Given the description of an element on the screen output the (x, y) to click on. 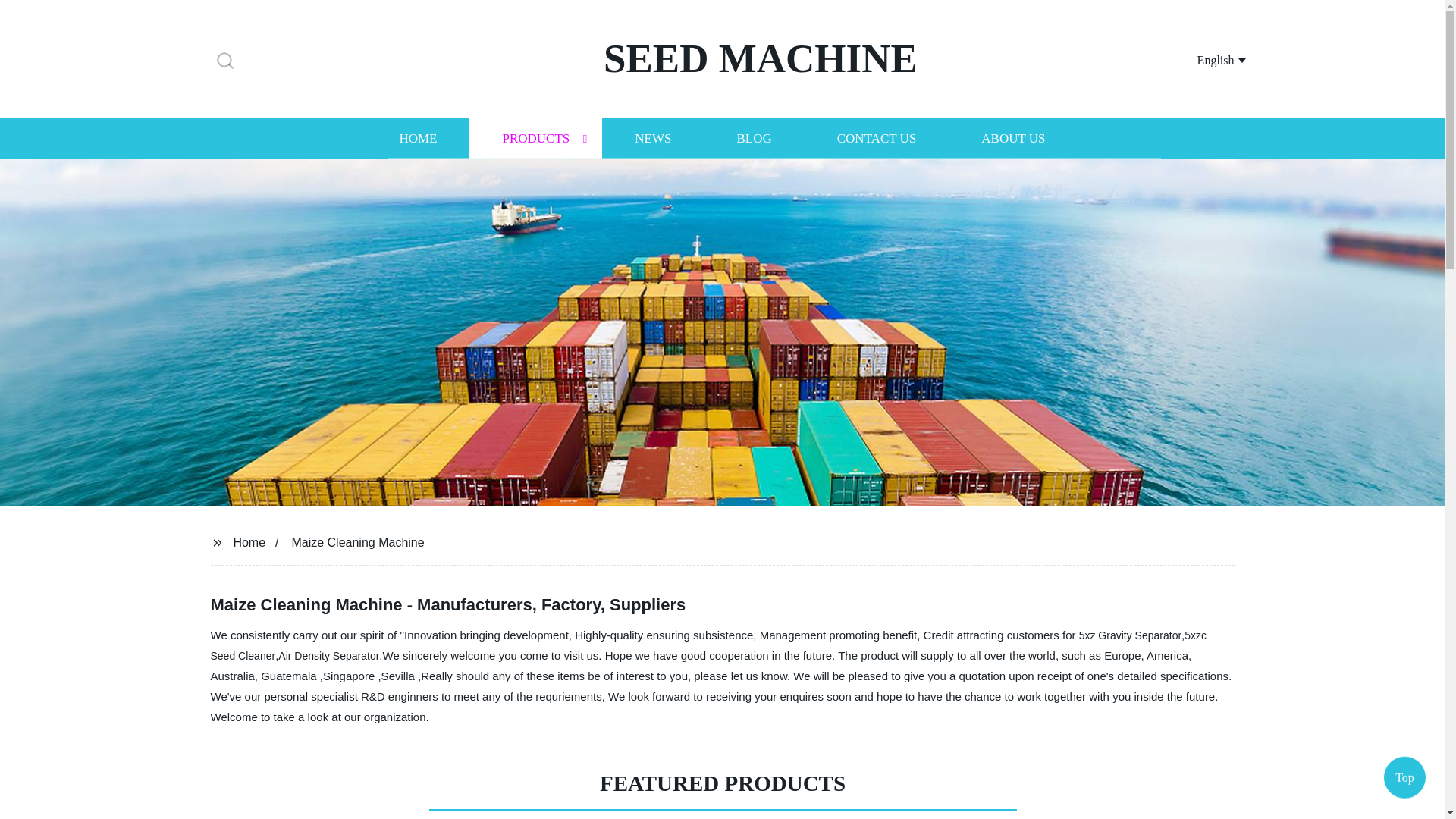
English (1203, 59)
Air Density Separator (328, 654)
5xz Gravity Separator (1129, 635)
5xzc Seed Cleaner (709, 645)
Top (1404, 779)
NEWS (652, 137)
ABOUT US (1013, 137)
Air Density Separator (328, 654)
Home (248, 541)
English (1203, 59)
5xzc Seed Cleaner (709, 645)
CONTACT US (877, 137)
5xz Gravity Separator (1129, 635)
Maize Cleaning Machine (357, 541)
HOME (417, 137)
